Given the description of an element on the screen output the (x, y) to click on. 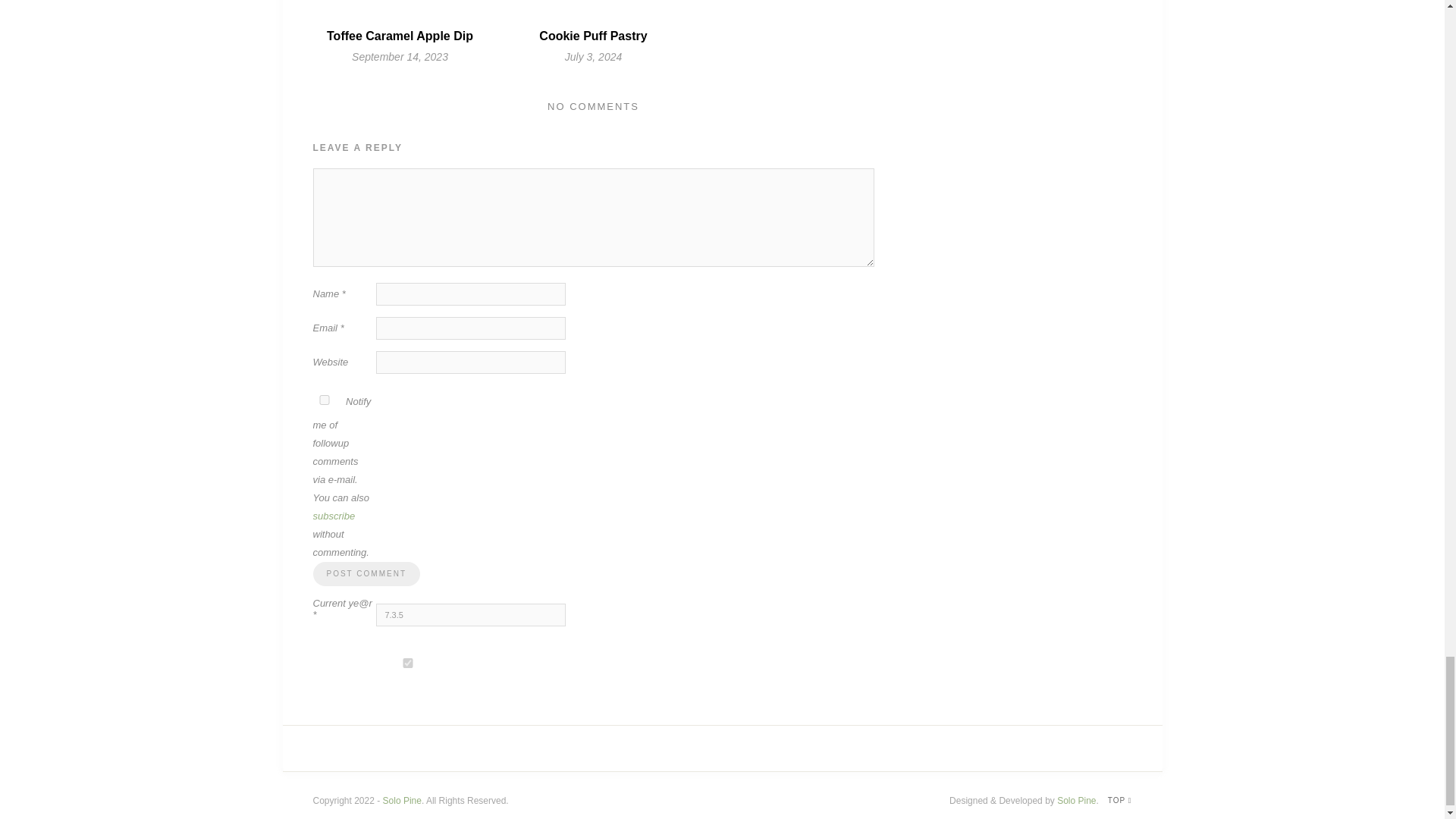
7.3.5 (470, 614)
on (407, 663)
Post Comment (366, 573)
yes (323, 399)
